Given the description of an element on the screen output the (x, y) to click on. 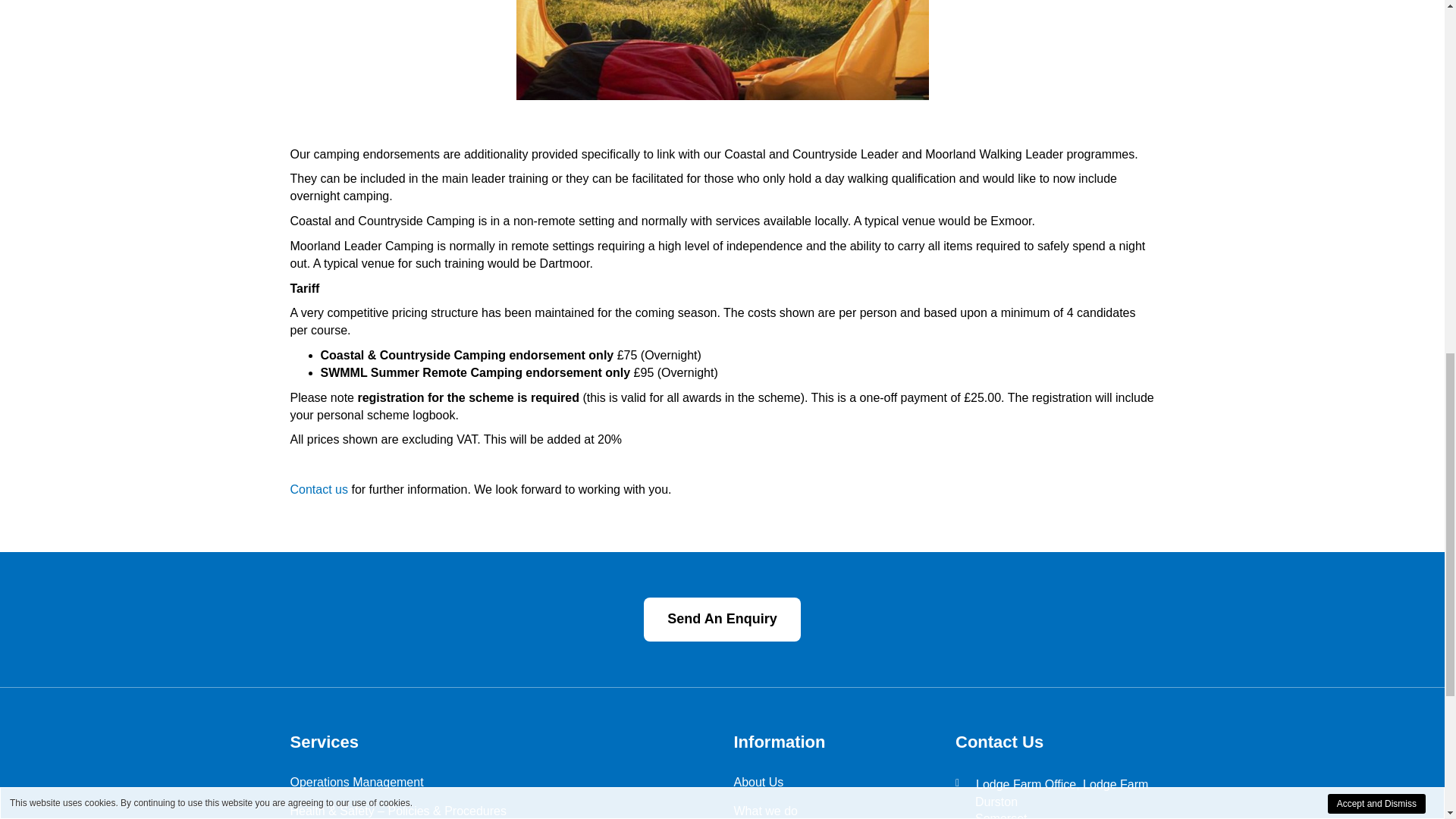
Contact us (318, 489)
About Us (833, 782)
Operations Management (499, 782)
What we do (833, 811)
Send An Enquiry (721, 619)
